Given the description of an element on the screen output the (x, y) to click on. 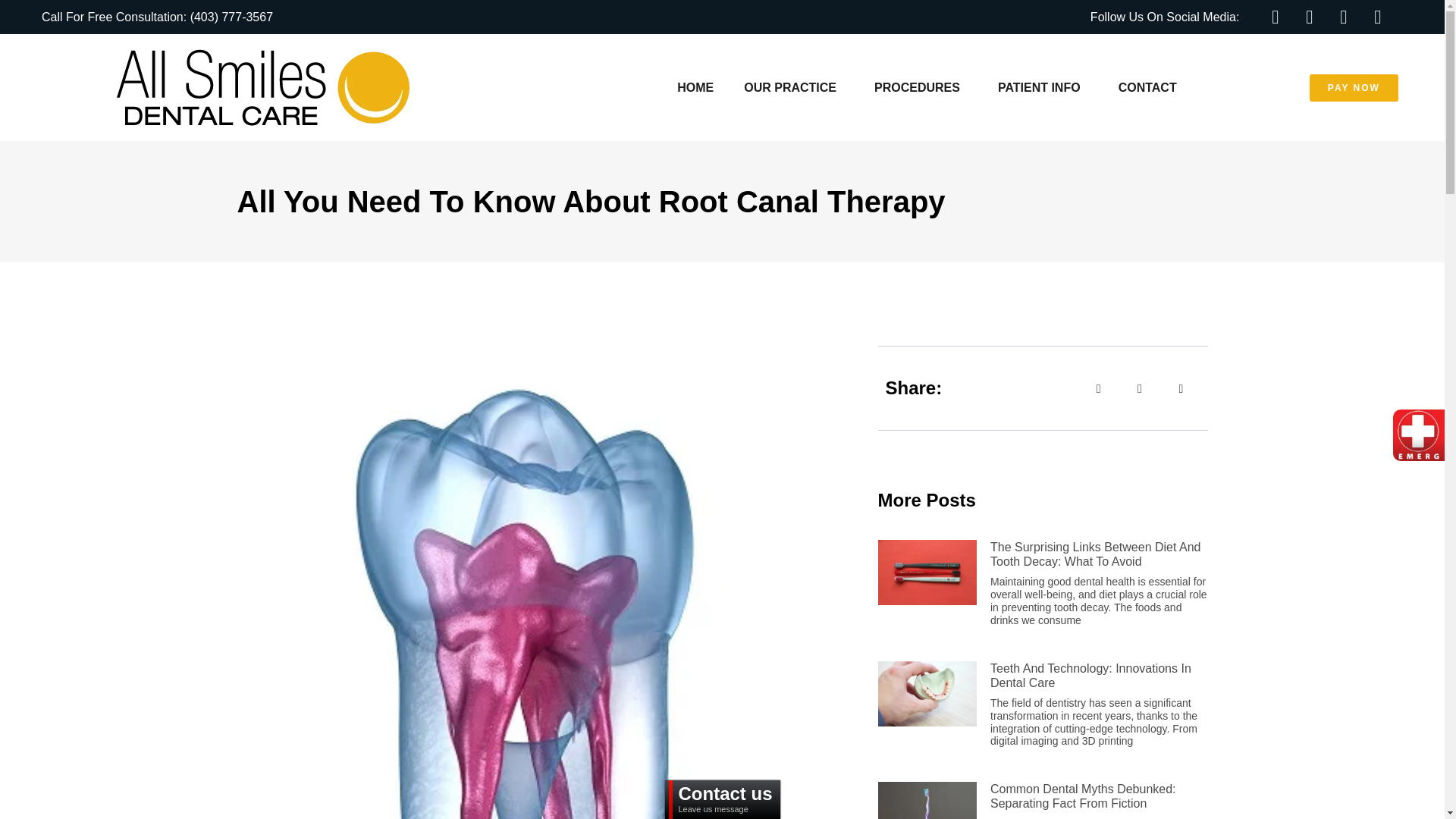
HOME (695, 86)
PROCEDURES (920, 86)
OUR PRACTICE (794, 86)
